Given the description of an element on the screen output the (x, y) to click on. 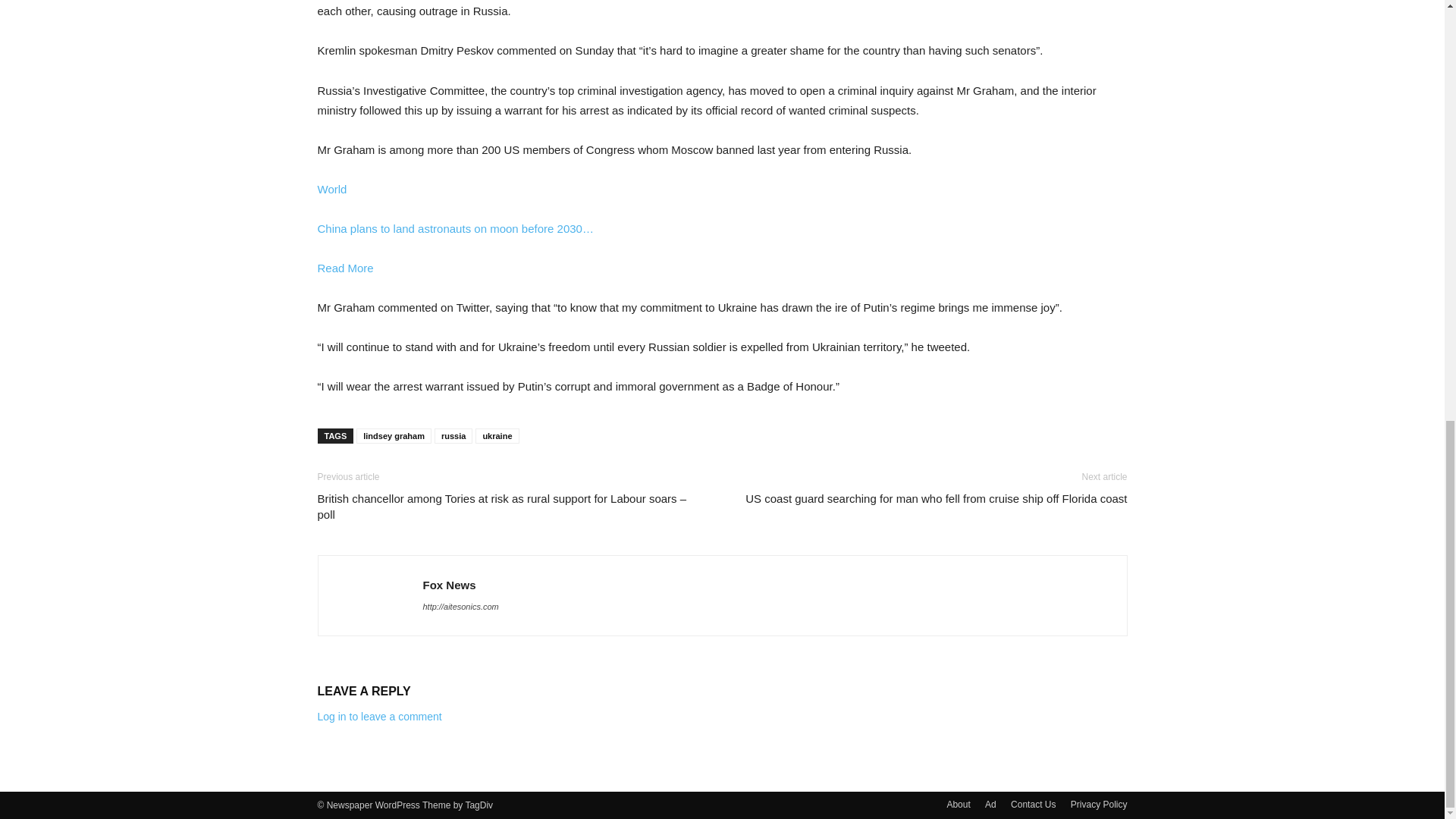
lindsey graham (393, 435)
ukraine (497, 435)
russia (452, 435)
